Given the description of an element on the screen output the (x, y) to click on. 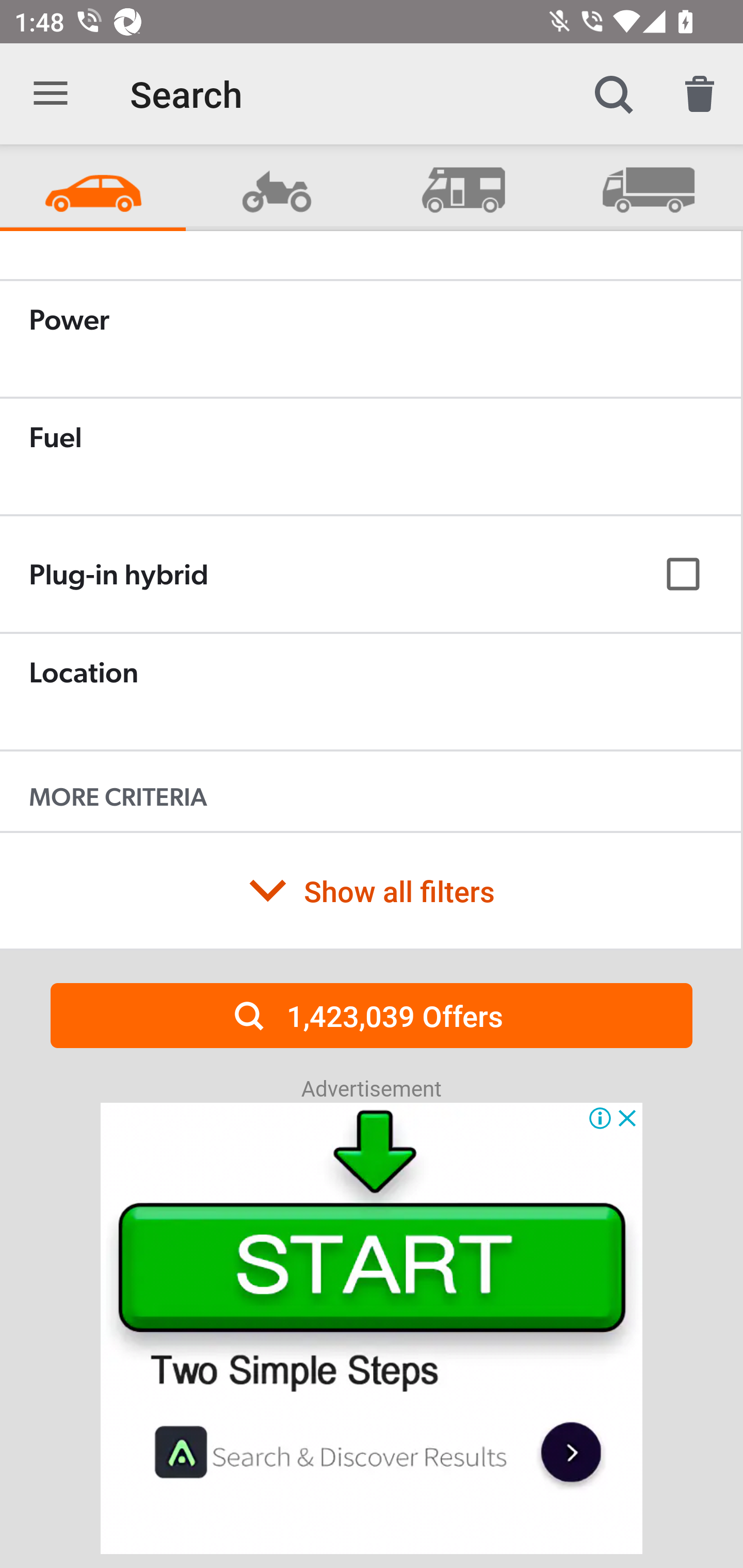
Open navigation bar (50, 93)
Search (612, 93)
Reset search (699, 93)
Power (370, 338)
Fuel (370, 456)
Plug-in hybrid (370, 573)
Plug-in hybrid (369, 574)
Location (370, 691)
Show all filters (370, 890)
1,423,039 Offers (371, 1015)
